Given the description of an element on the screen output the (x, y) to click on. 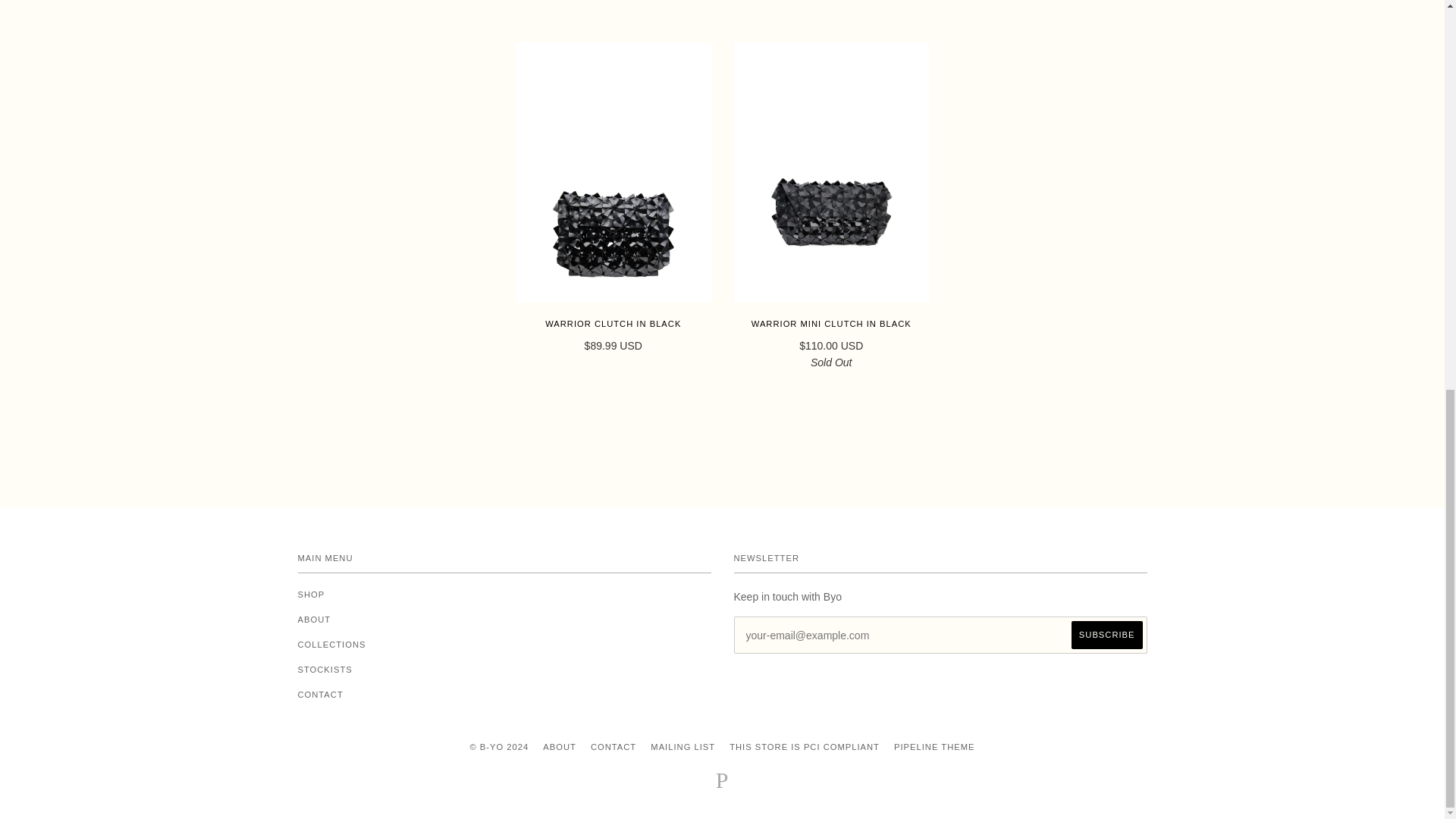
ABOUT (313, 619)
SHOP (310, 593)
Subscribe (1106, 634)
